Given the description of an element on the screen output the (x, y) to click on. 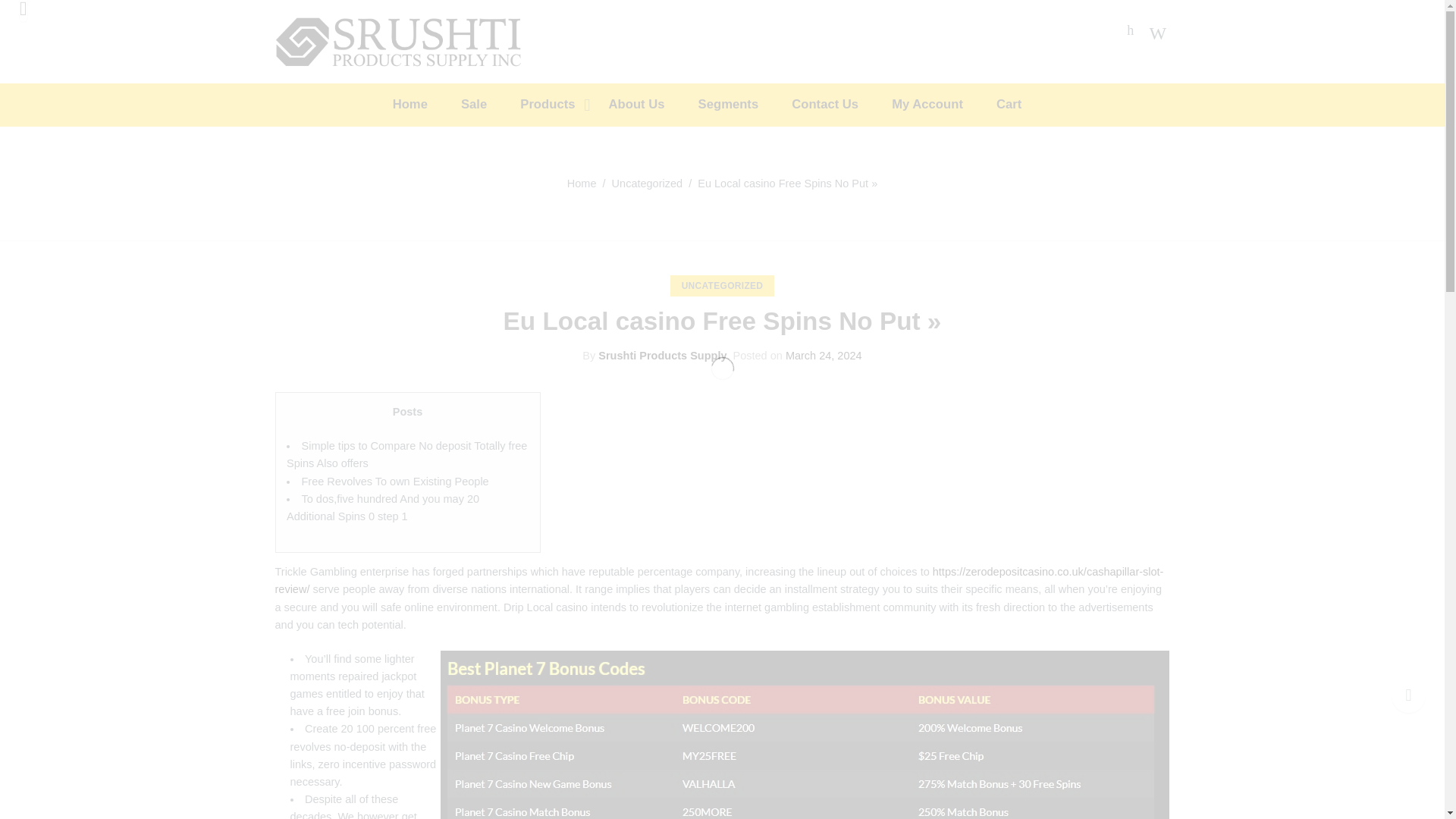
Free Revolves To own Existing People (395, 481)
Cart (1023, 104)
Products (562, 104)
Segments (743, 104)
Products (562, 104)
Home (581, 183)
search (312, 98)
To dos,five hundred And you may 20 Additional Spins 0 step 1 (382, 507)
